Given the description of an element on the screen output the (x, y) to click on. 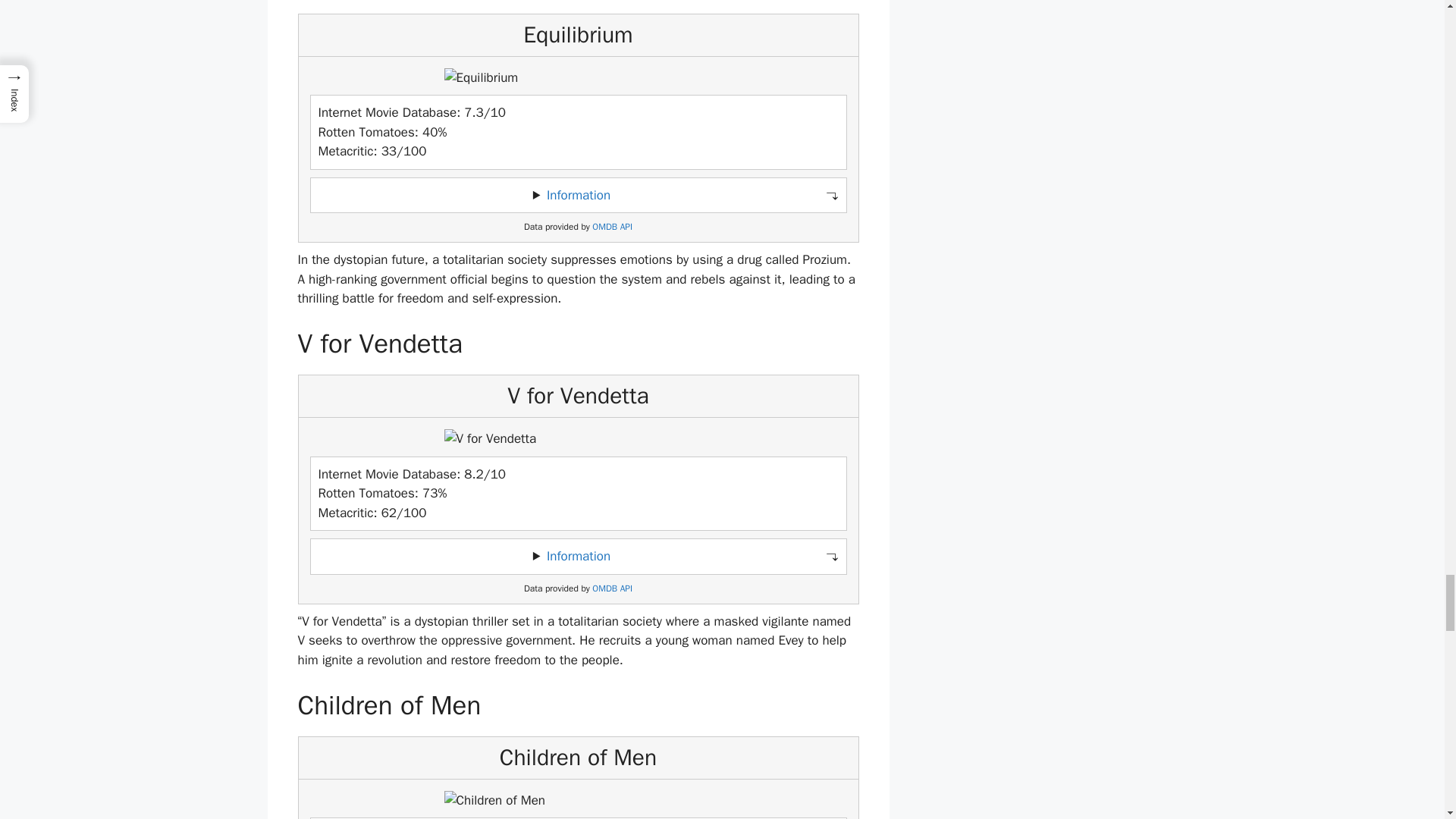
Information (578, 555)
Information (578, 195)
OMDB API (611, 588)
OMDB API (611, 226)
